Given the description of an element on the screen output the (x, y) to click on. 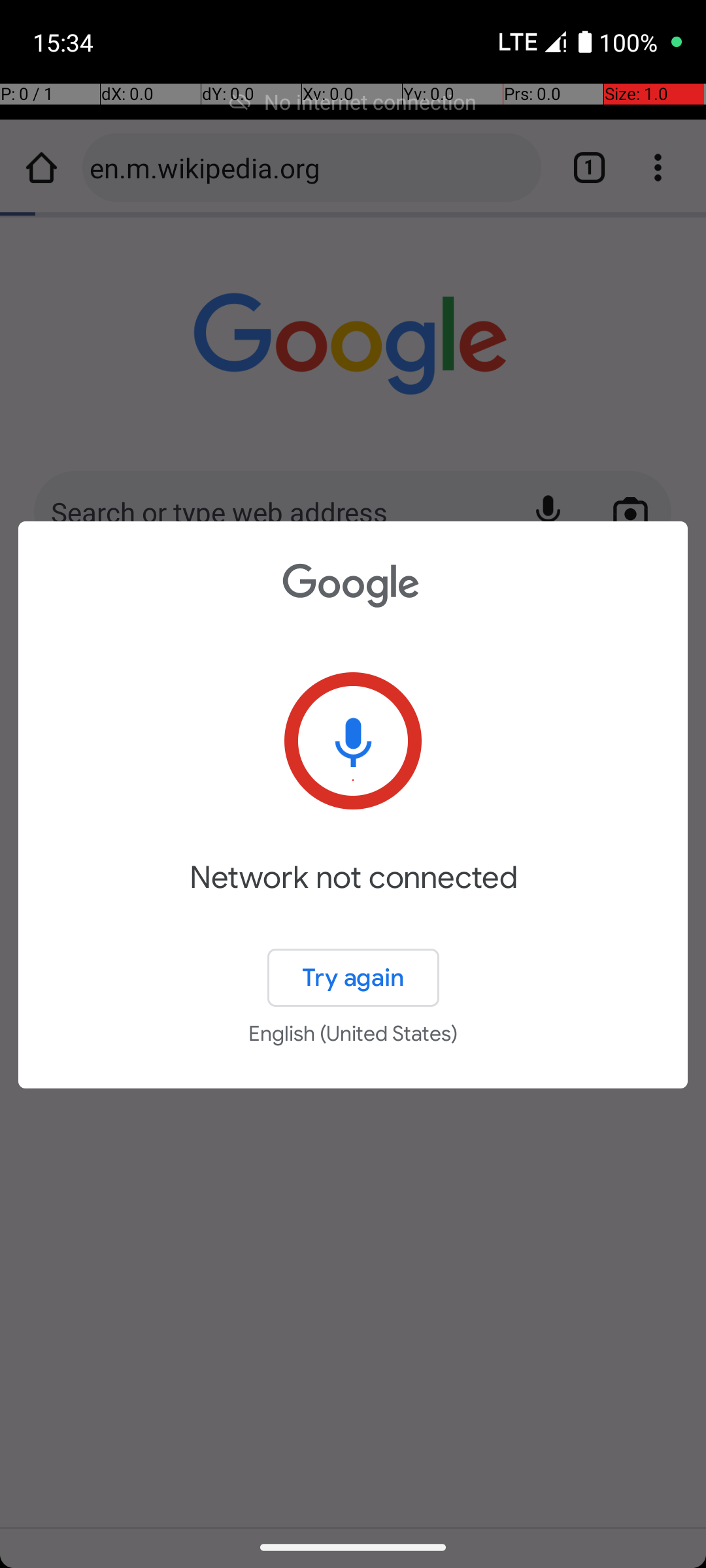
Network not connected Element type: android.widget.TextView (352, 895)
Try again Element type: android.widget.Button (353, 977)
